Given the description of an element on the screen output the (x, y) to click on. 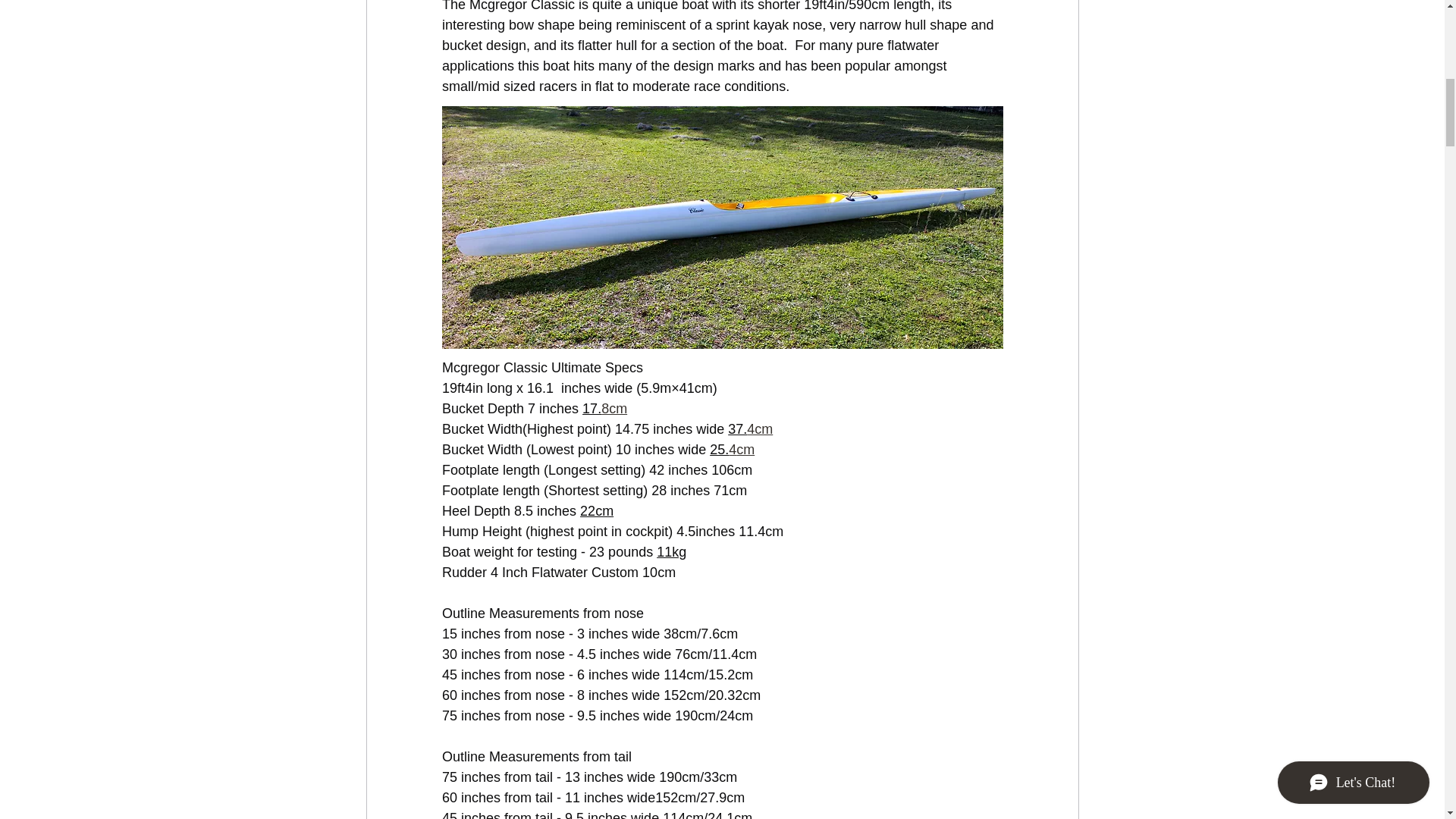
8cm (614, 408)
cm (745, 449)
4cm (759, 428)
